Given the description of an element on the screen output the (x, y) to click on. 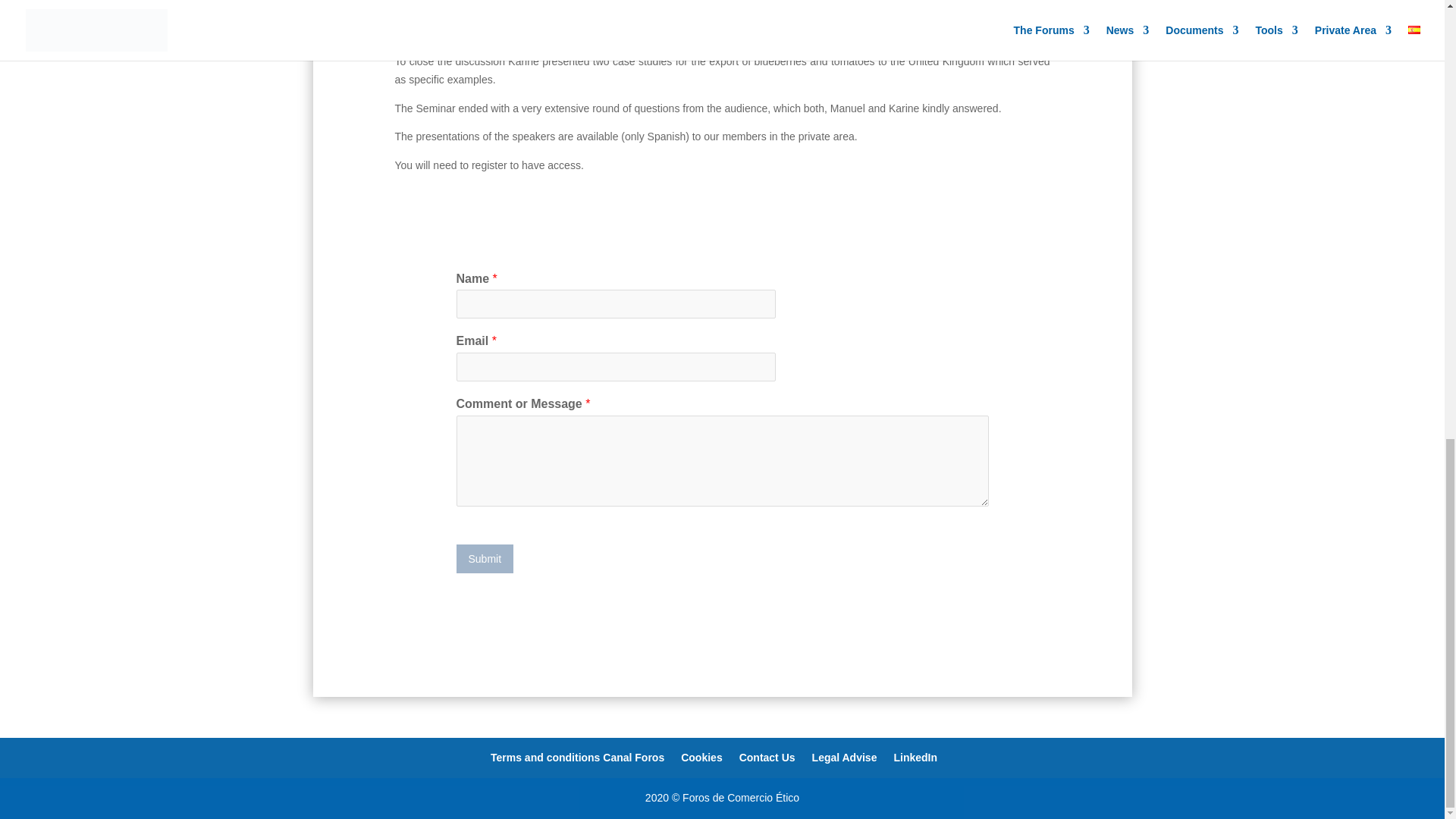
Contact Us (766, 757)
Terms and conditions Canal Foros (576, 757)
Cookies (701, 757)
Legal Advise (844, 757)
Submit (485, 558)
LinkedIn (915, 757)
